Given the description of an element on the screen output the (x, y) to click on. 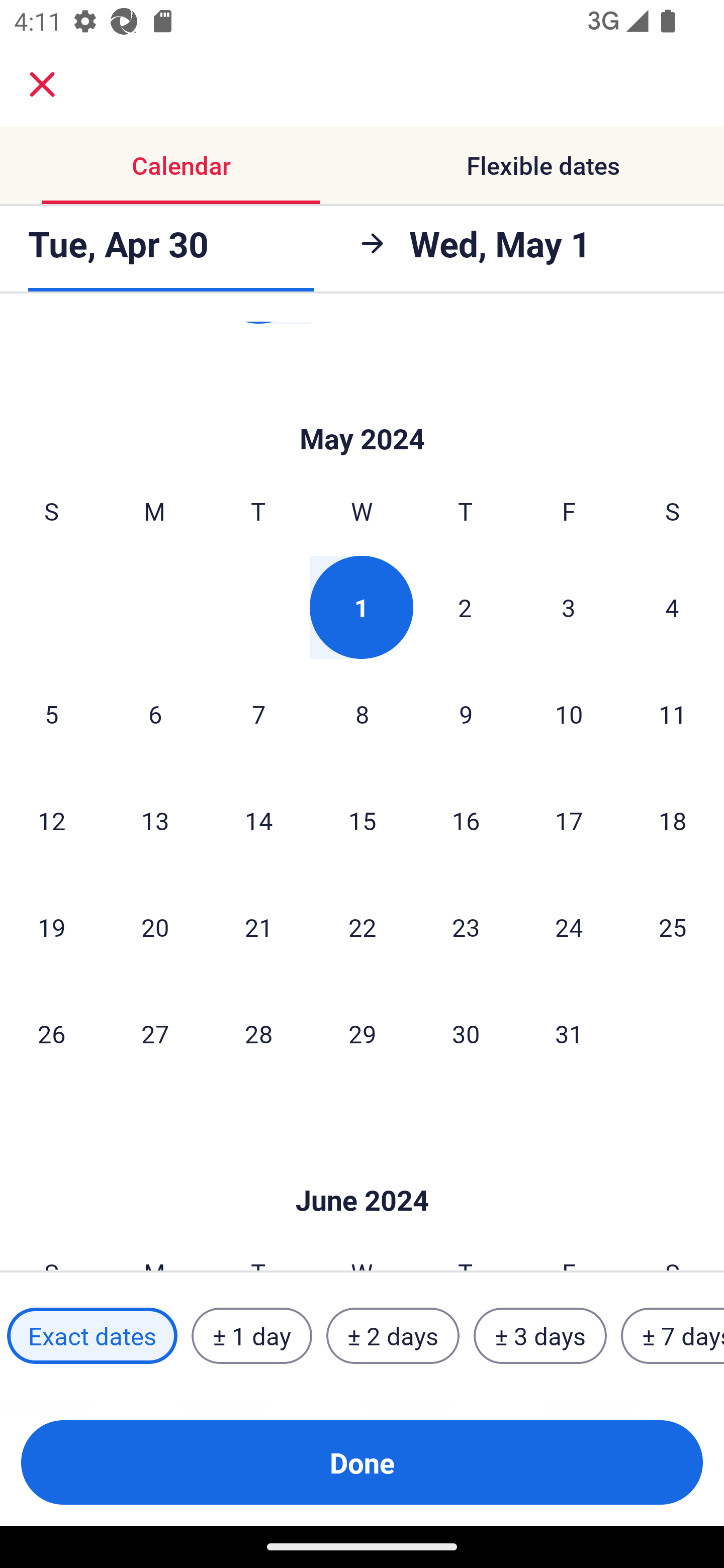
close. (42, 84)
Flexible dates (542, 164)
Skip to Done (362, 408)
2 Thursday, May 2, 2024 (464, 606)
3 Friday, May 3, 2024 (568, 606)
4 Saturday, May 4, 2024 (672, 606)
5 Sunday, May 5, 2024 (51, 713)
6 Monday, May 6, 2024 (155, 713)
7 Tuesday, May 7, 2024 (258, 713)
8 Wednesday, May 8, 2024 (362, 713)
9 Thursday, May 9, 2024 (465, 713)
10 Friday, May 10, 2024 (569, 713)
11 Saturday, May 11, 2024 (672, 713)
12 Sunday, May 12, 2024 (51, 819)
13 Monday, May 13, 2024 (155, 819)
14 Tuesday, May 14, 2024 (258, 819)
15 Wednesday, May 15, 2024 (362, 819)
16 Thursday, May 16, 2024 (465, 819)
17 Friday, May 17, 2024 (569, 819)
18 Saturday, May 18, 2024 (672, 819)
19 Sunday, May 19, 2024 (51, 926)
20 Monday, May 20, 2024 (155, 926)
21 Tuesday, May 21, 2024 (258, 926)
22 Wednesday, May 22, 2024 (362, 926)
23 Thursday, May 23, 2024 (465, 926)
24 Friday, May 24, 2024 (569, 926)
25 Saturday, May 25, 2024 (672, 926)
26 Sunday, May 26, 2024 (51, 1033)
27 Monday, May 27, 2024 (155, 1033)
28 Tuesday, May 28, 2024 (258, 1033)
29 Wednesday, May 29, 2024 (362, 1033)
30 Thursday, May 30, 2024 (465, 1033)
31 Friday, May 31, 2024 (569, 1033)
Skip to Done (362, 1170)
Exact dates (92, 1335)
± 1 day (251, 1335)
± 2 days (392, 1335)
± 3 days (539, 1335)
± 7 days (672, 1335)
Done (361, 1462)
